Given the description of an element on the screen output the (x, y) to click on. 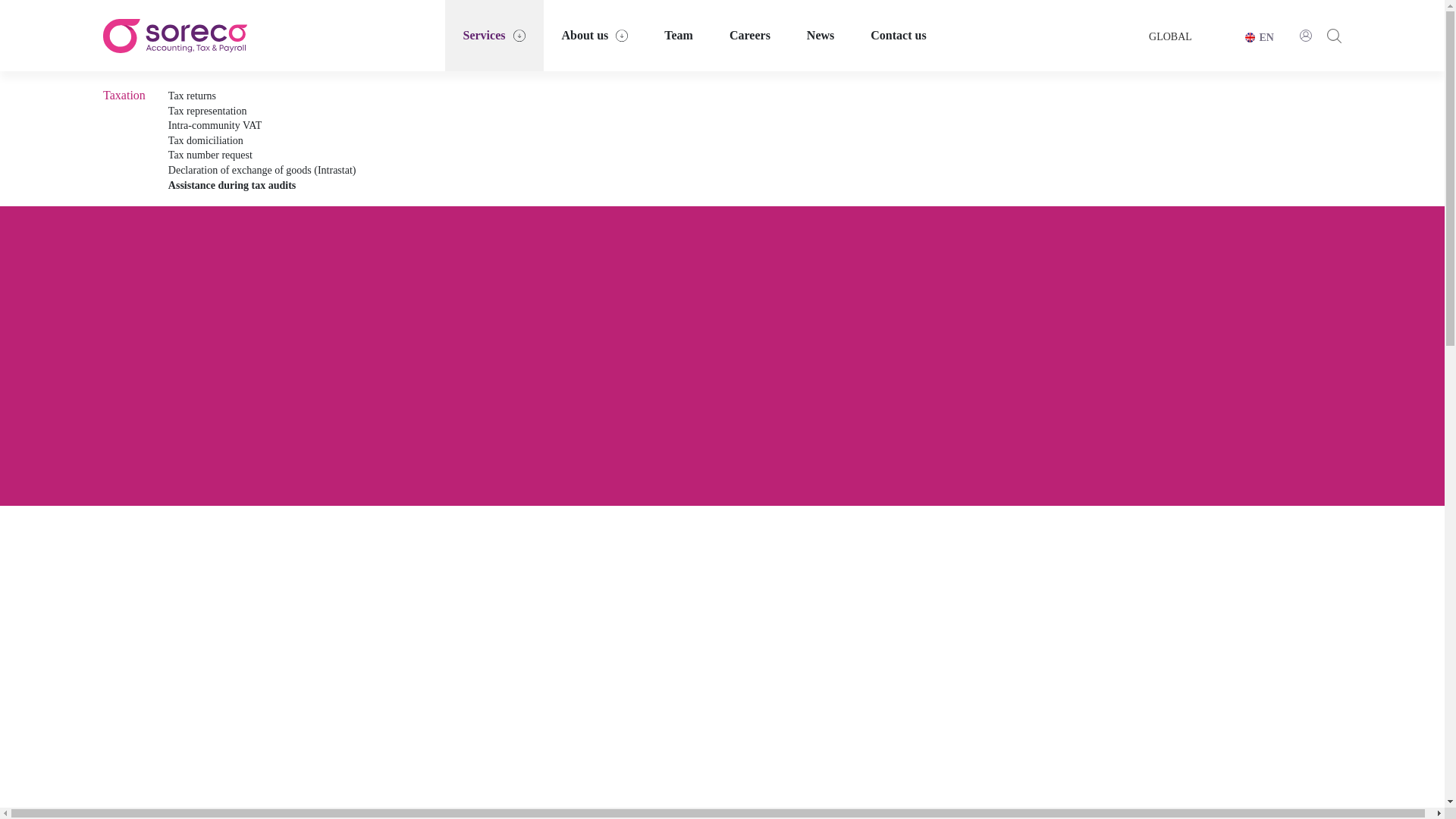
Accueil (175, 35)
Services (494, 35)
User (1305, 35)
